Given the description of an element on the screen output the (x, y) to click on. 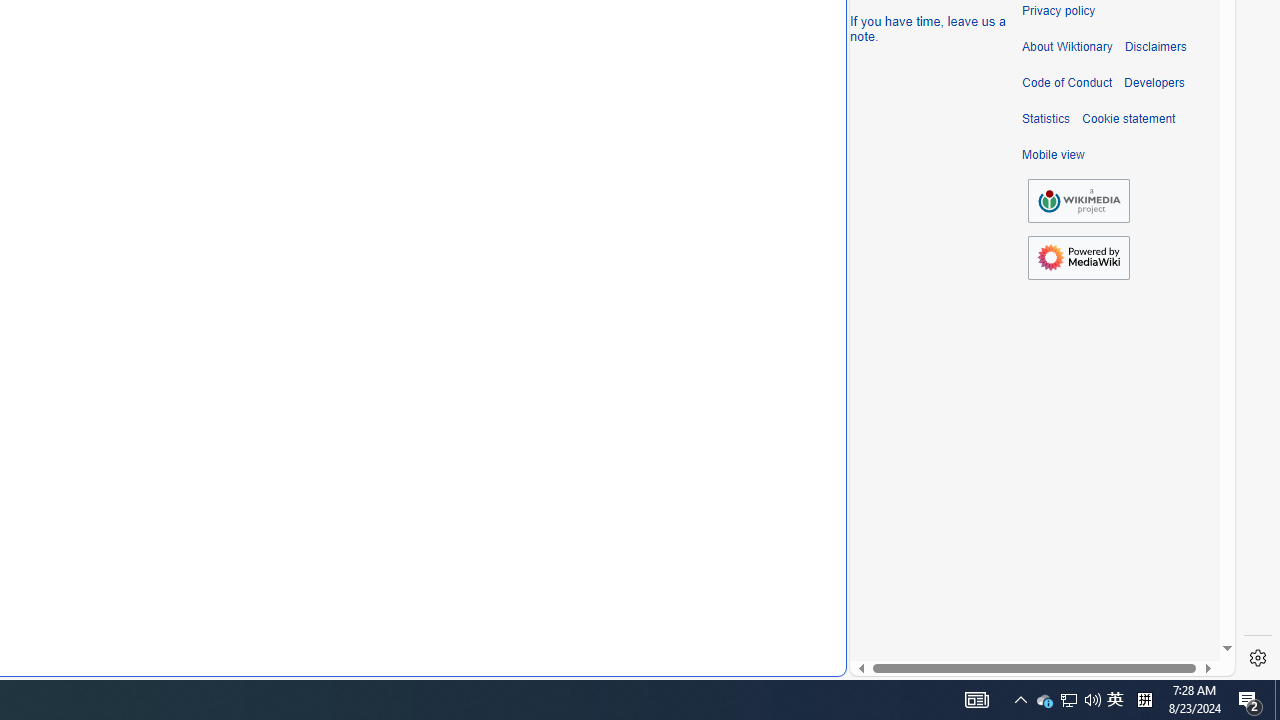
Developers (1154, 83)
Cookie statement (1128, 119)
Powered by MediaWiki (1078, 257)
Code of Conduct (1067, 83)
AutomationID: footer-poweredbyico (1078, 257)
Statistics (1046, 119)
If you have time, leave us a note. (927, 27)
